Given the description of an element on the screen output the (x, y) to click on. 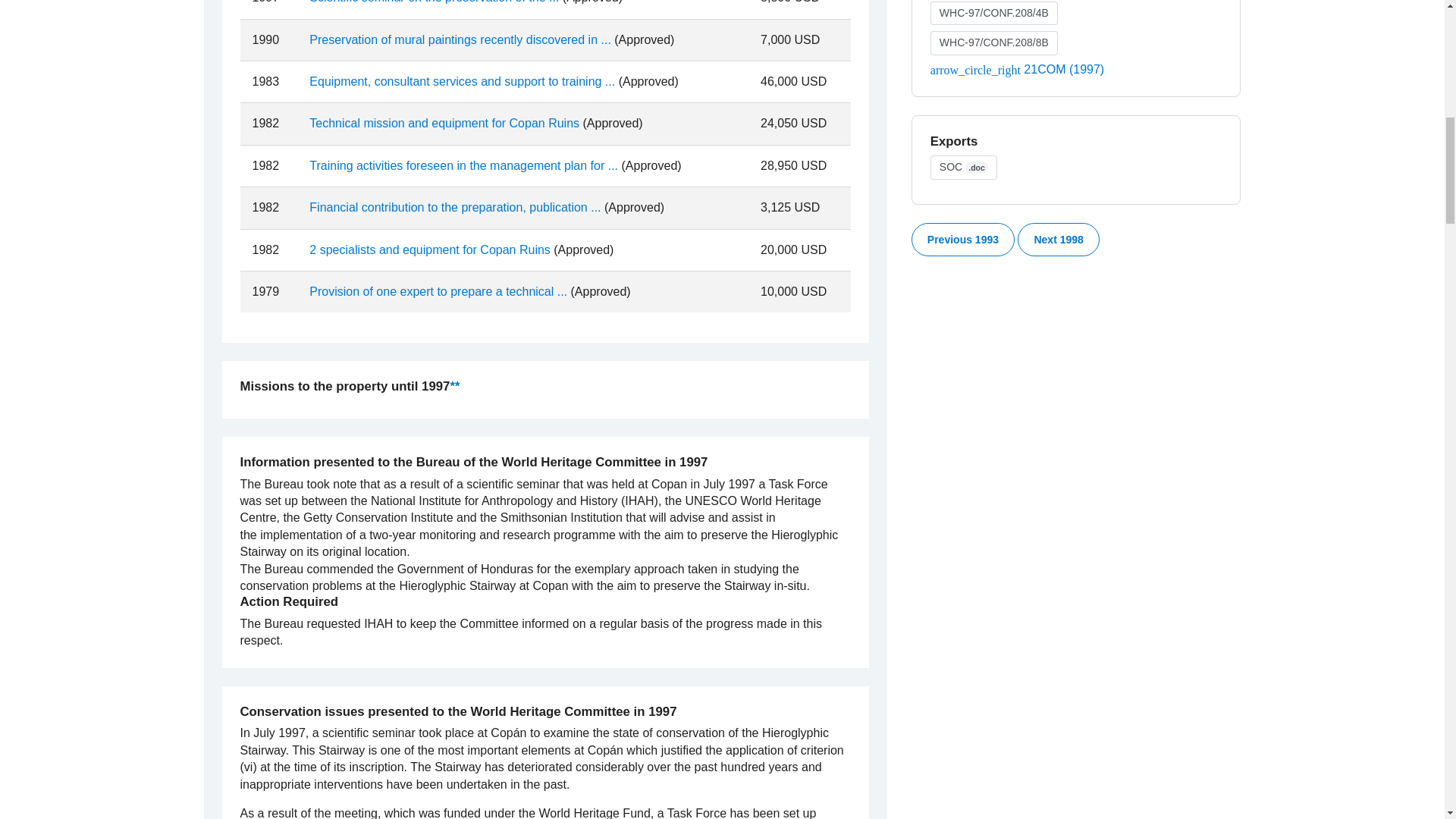
Consult this request (461, 81)
Consult this request (459, 39)
Consult this request (443, 123)
Consult this request (462, 164)
Consult this request (433, 2)
